Given the description of an element on the screen output the (x, y) to click on. 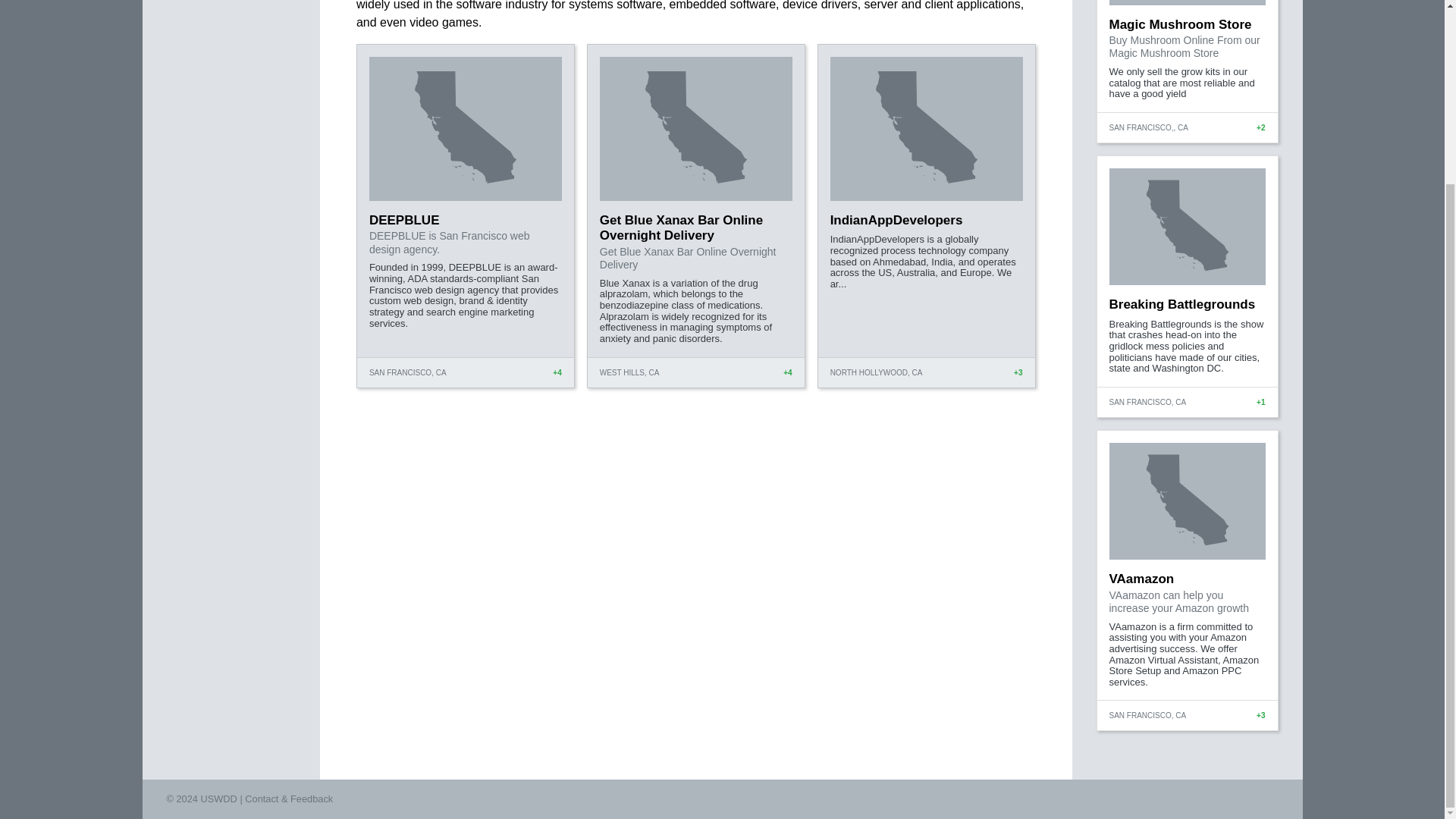
IndianAppDevelopers (895, 219)
VAamazon (1140, 578)
DEEPBLUE (404, 219)
Breaking Battlegrounds (1181, 304)
Magic Mushroom Store (1179, 24)
Get Blue Xanax Bar Online Overnight Delivery (680, 227)
